Given the description of an element on the screen output the (x, y) to click on. 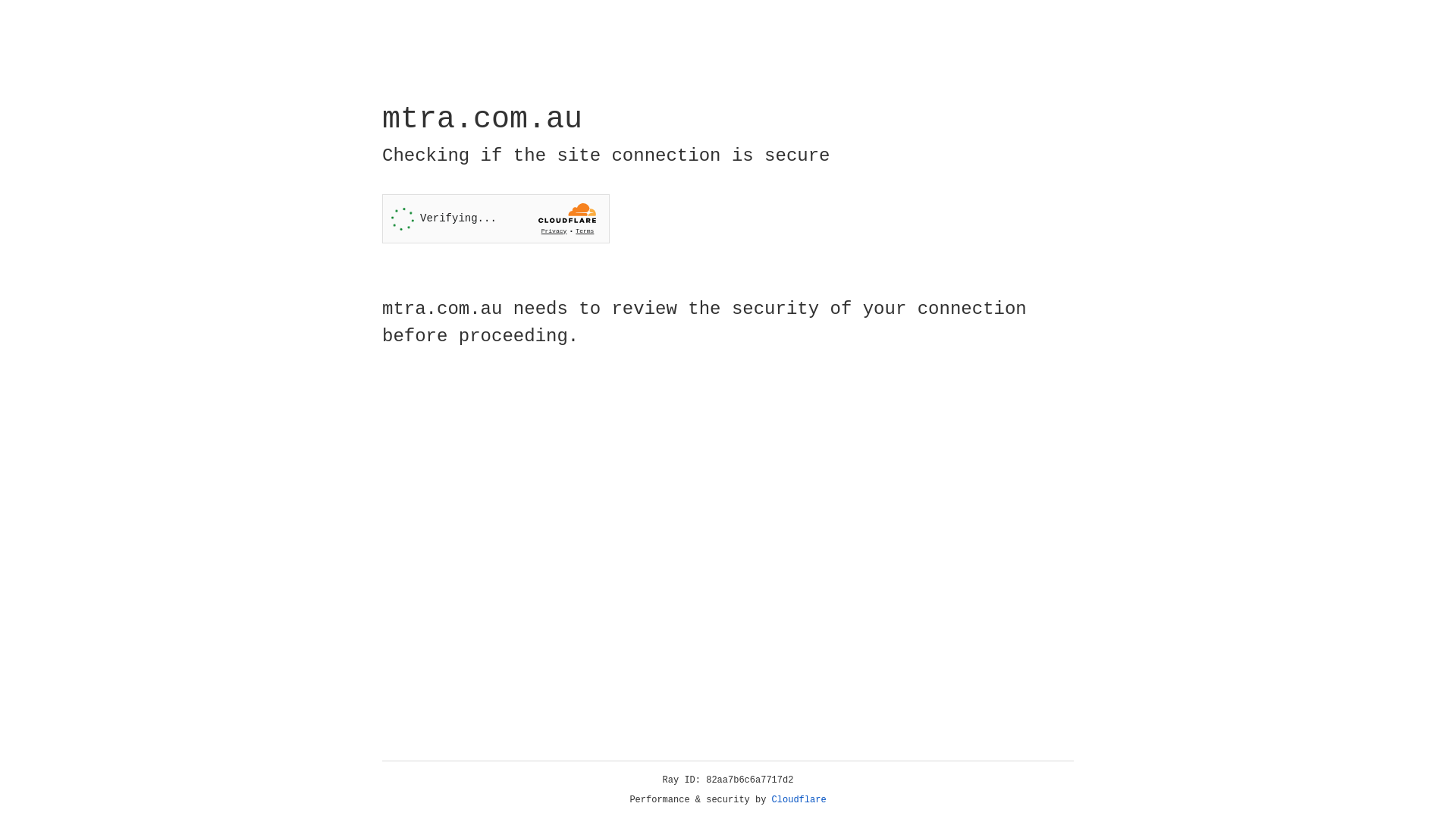
Cloudflare Element type: text (798, 799)
Widget containing a Cloudflare security challenge Element type: hover (495, 218)
